Given the description of an element on the screen output the (x, y) to click on. 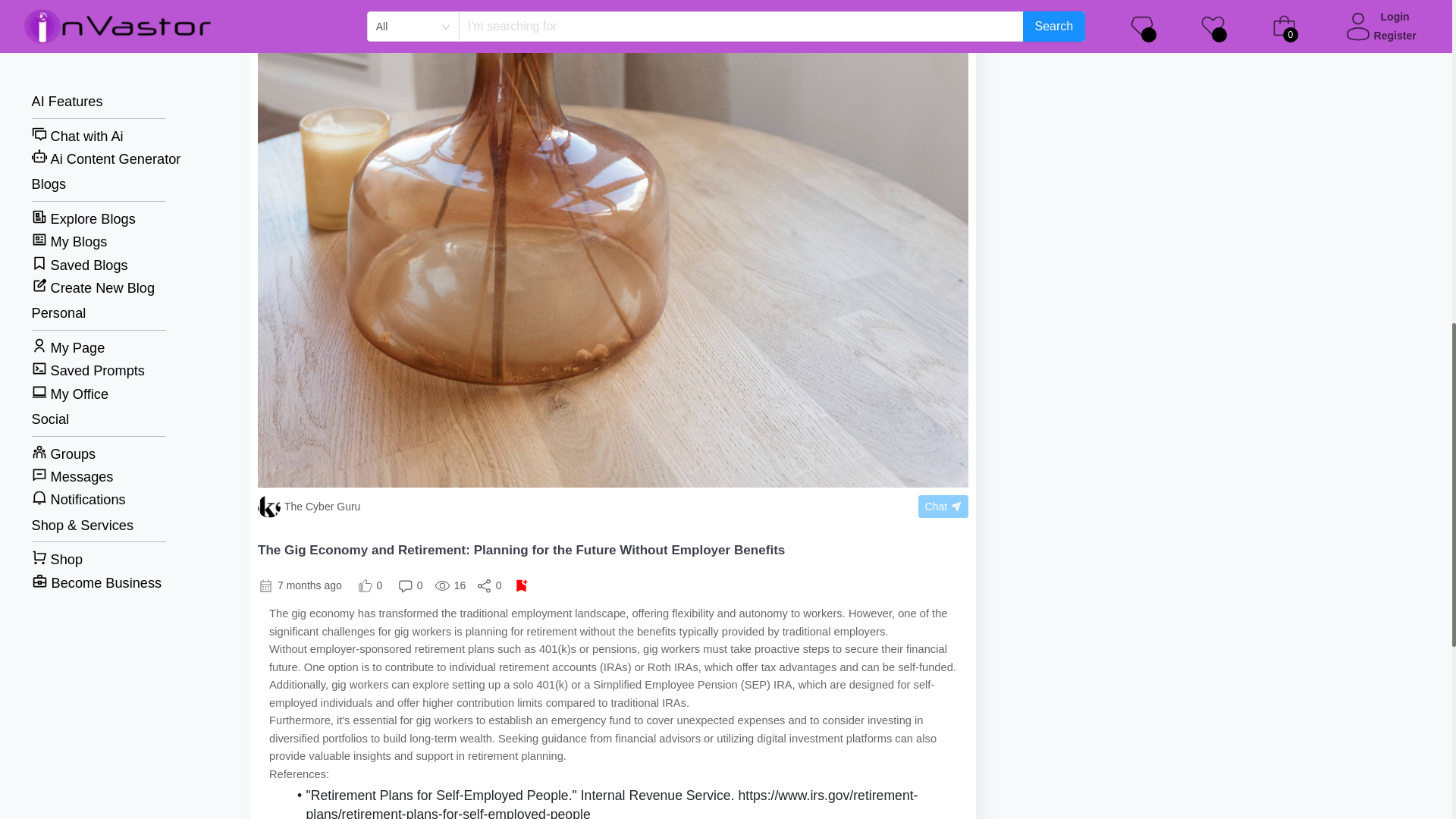
The Cyber Guru (493, 506)
Save blog (521, 585)
Comments (409, 585)
0 (409, 585)
View Counts (449, 585)
0 (370, 585)
Chat (943, 506)
